Given the description of an element on the screen output the (x, y) to click on. 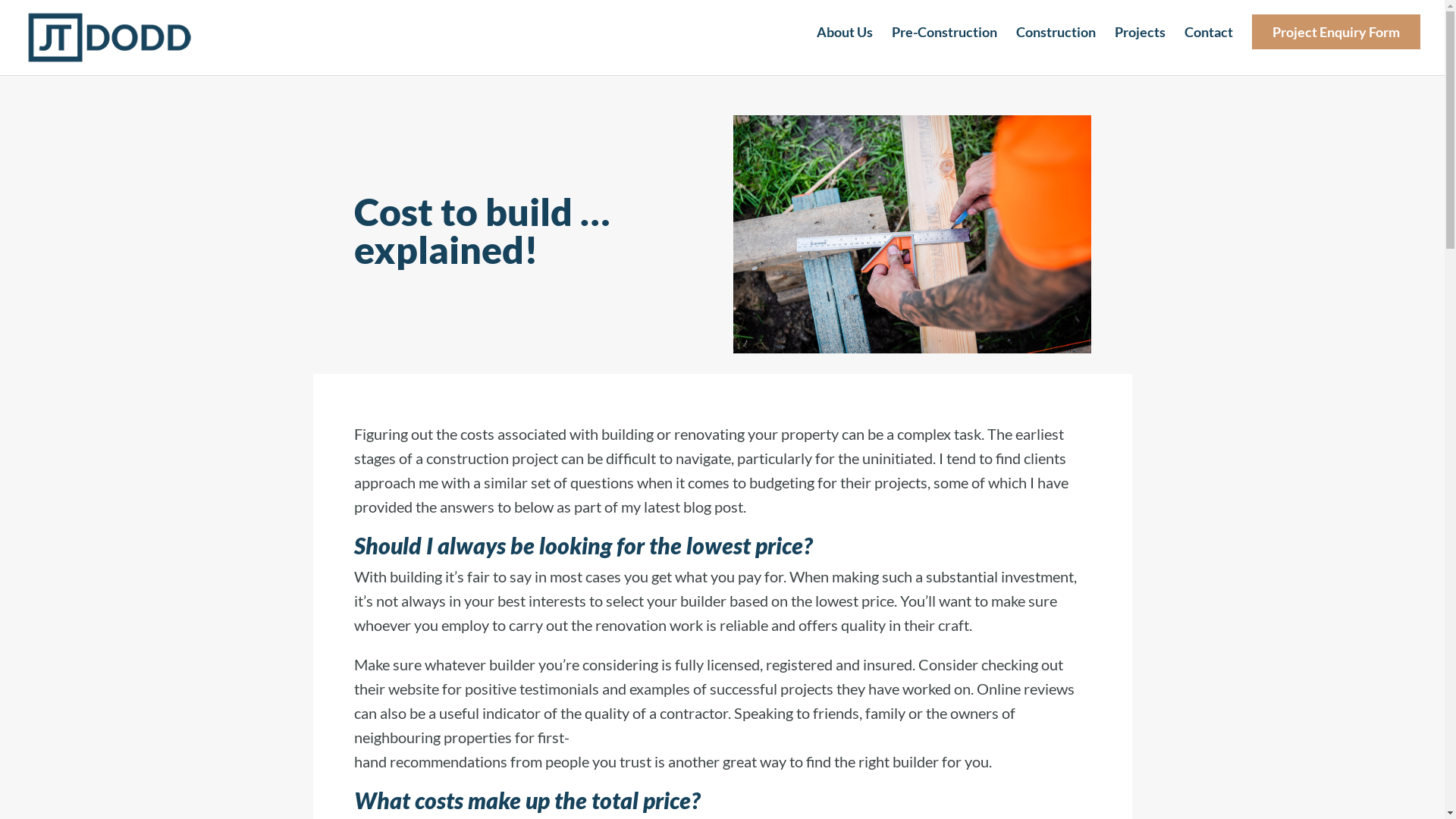
Projects Element type: text (1139, 44)
Construction Element type: text (1055, 44)
Pre-Construction Element type: text (944, 44)
Contact Element type: text (1208, 44)
Project Enquiry Form Element type: text (1336, 44)
JTDODD-Caulfield-North-Construction-Pencil-Line Element type: hover (911, 234)
About Us Element type: text (844, 44)
